Given the description of an element on the screen output the (x, y) to click on. 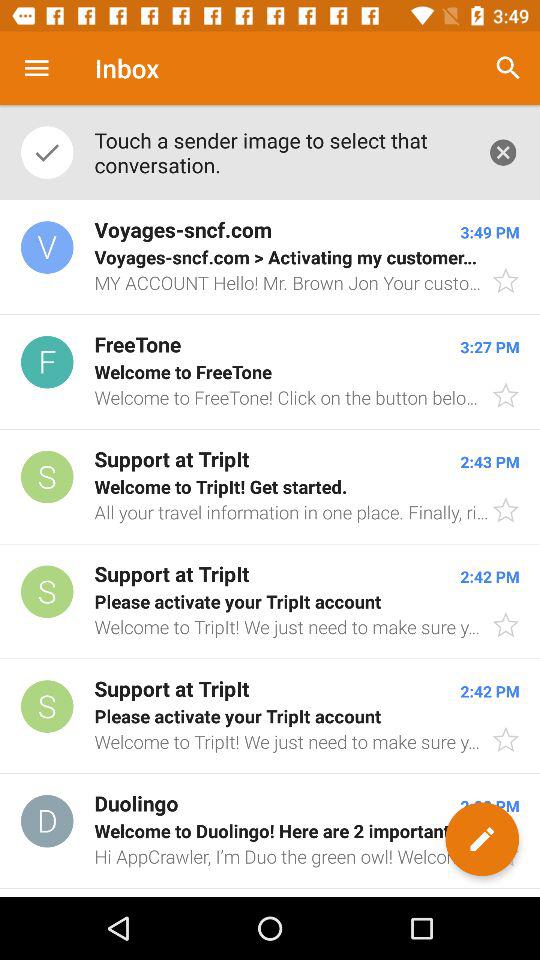
launch the app below the inbox item (280, 152)
